Given the description of an element on the screen output the (x, y) to click on. 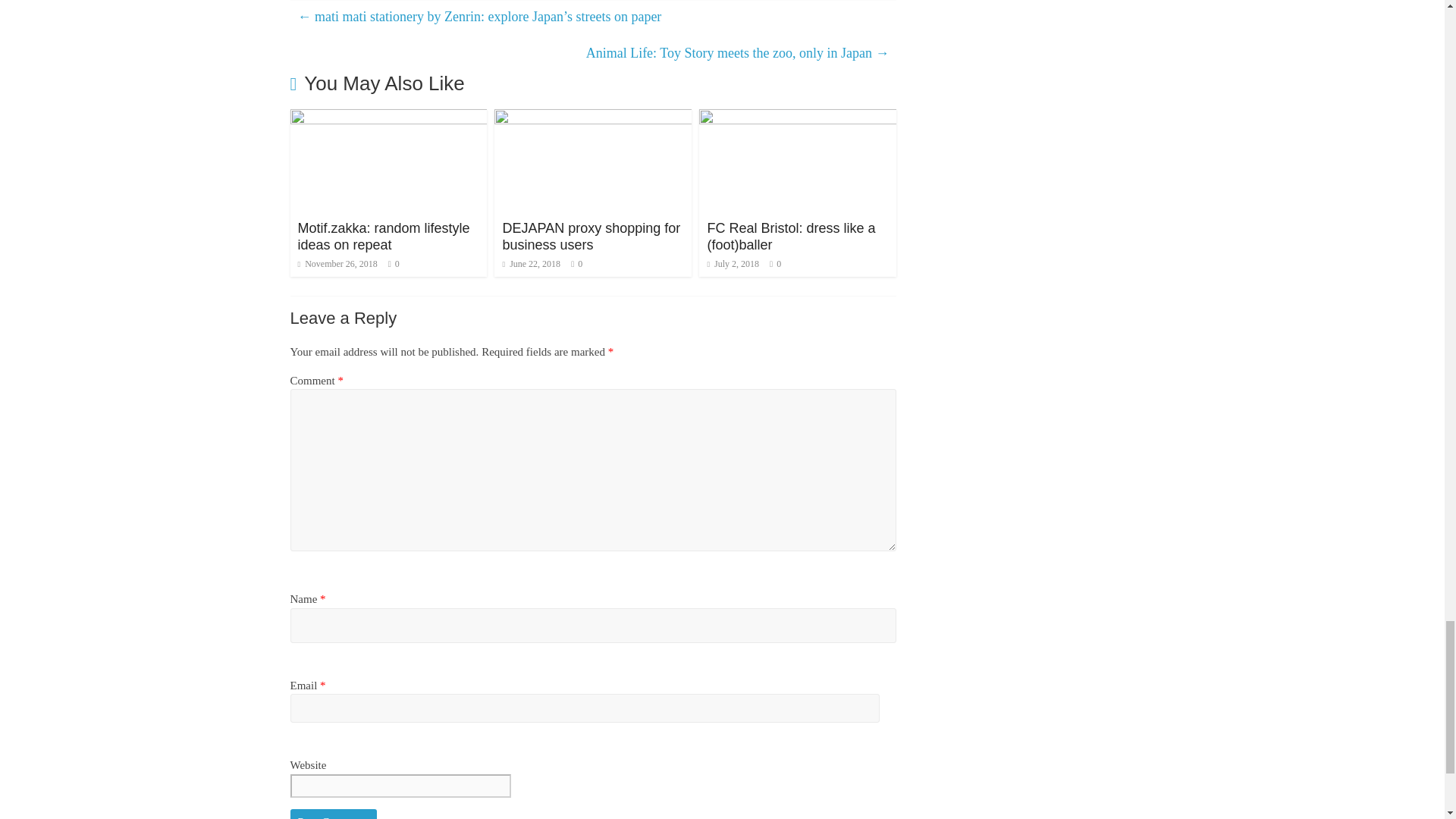
DEJAPAN proxy shopping for business users (593, 118)
00:00 (337, 263)
Post Comment (333, 814)
08:39 (531, 263)
Motif.zakka: random lifestyle ideas on repeat (382, 236)
DEJAPAN proxy shopping for business users (590, 236)
Motif.zakka: random lifestyle ideas on repeat (387, 118)
